Given the description of an element on the screen output the (x, y) to click on. 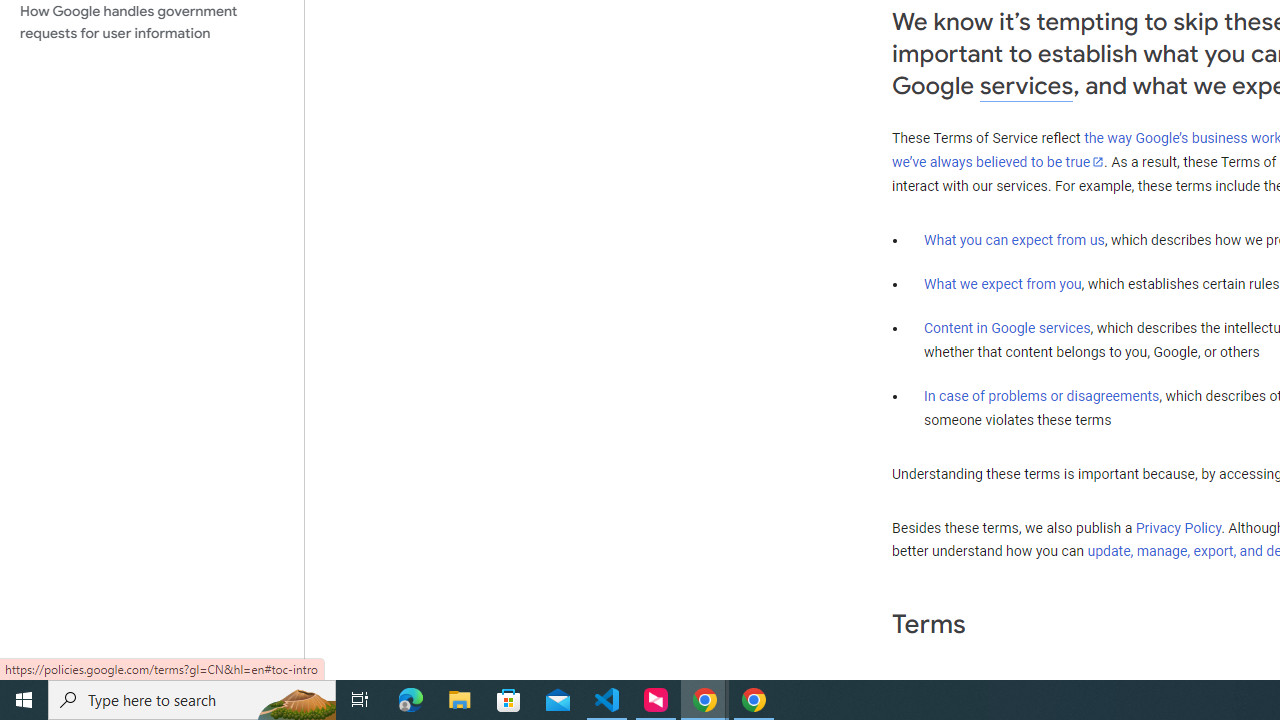
Content in Google services (1007, 327)
What you can expect from us (1014, 240)
services (1026, 85)
What we expect from you (1002, 284)
In case of problems or disagreements (1041, 395)
